Given the description of an element on the screen output the (x, y) to click on. 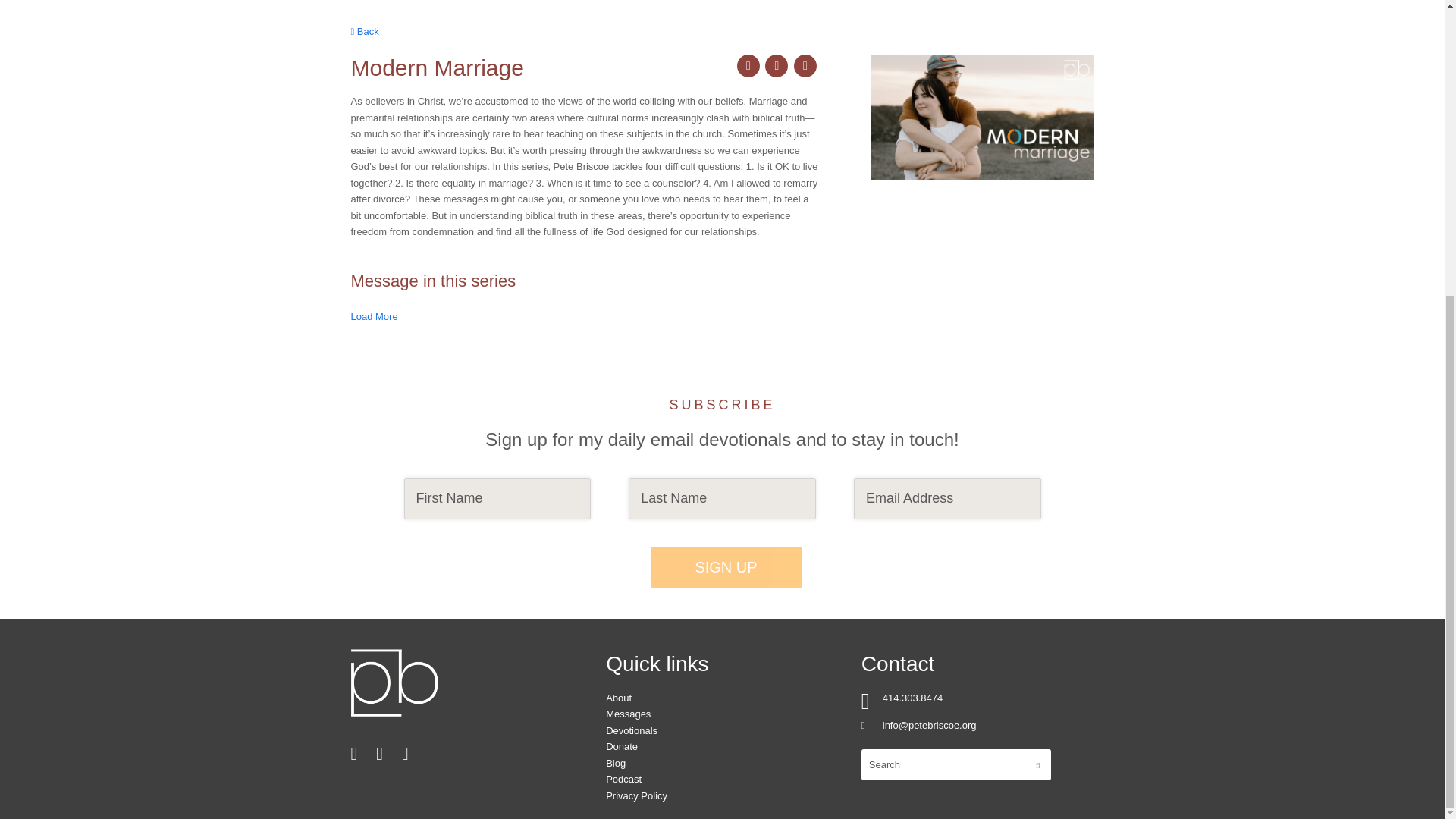
Back (364, 30)
Sign Up (726, 567)
email (804, 65)
About (618, 697)
Sign Up (726, 567)
Donate (621, 746)
twitter (748, 65)
facebook (776, 65)
Privacy Policy (635, 795)
Messages (627, 713)
